Given the description of an element on the screen output the (x, y) to click on. 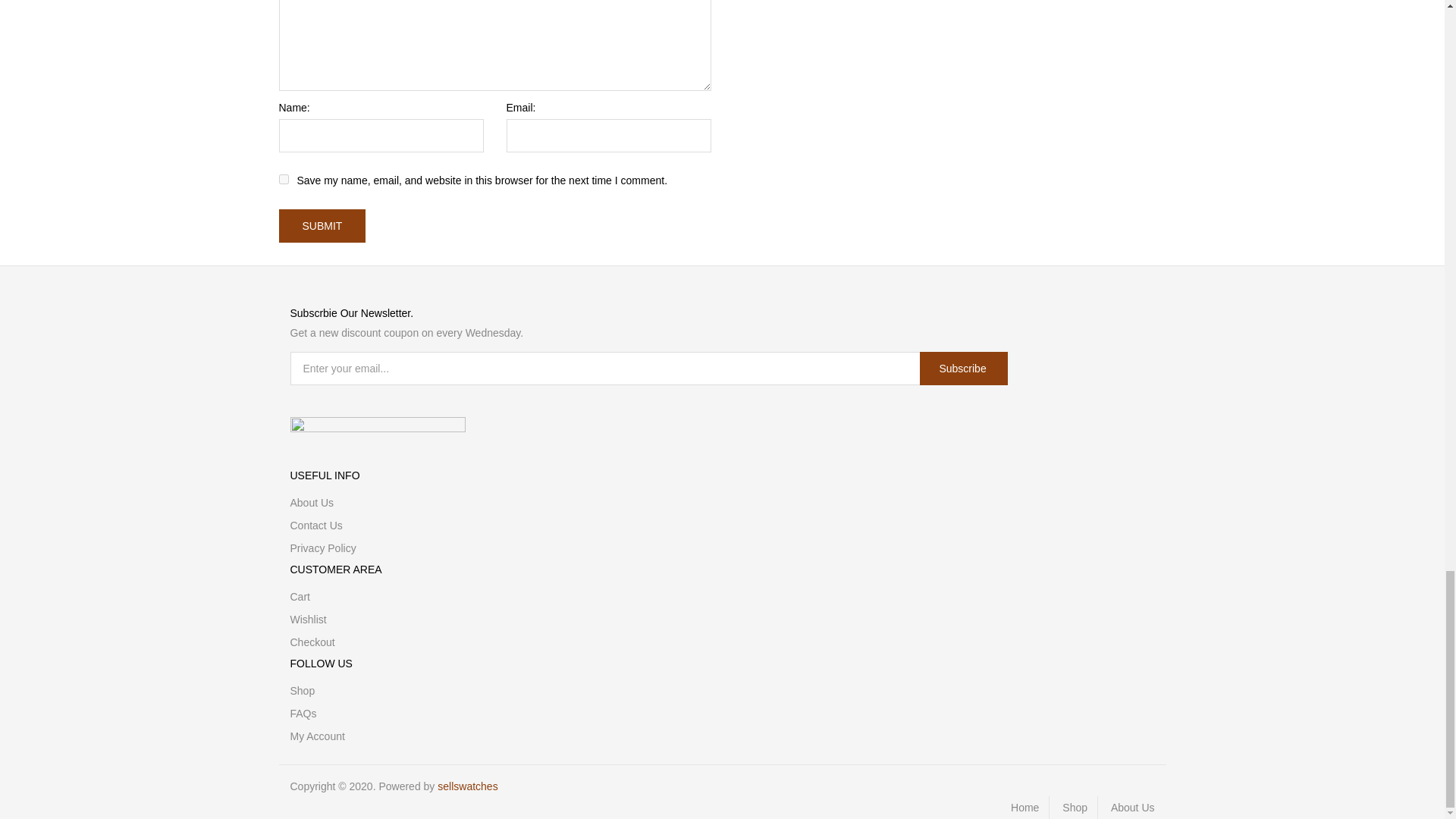
payments (376, 425)
yes (283, 179)
subscribe (963, 368)
submit (322, 225)
